Given the description of an element on the screen output the (x, y) to click on. 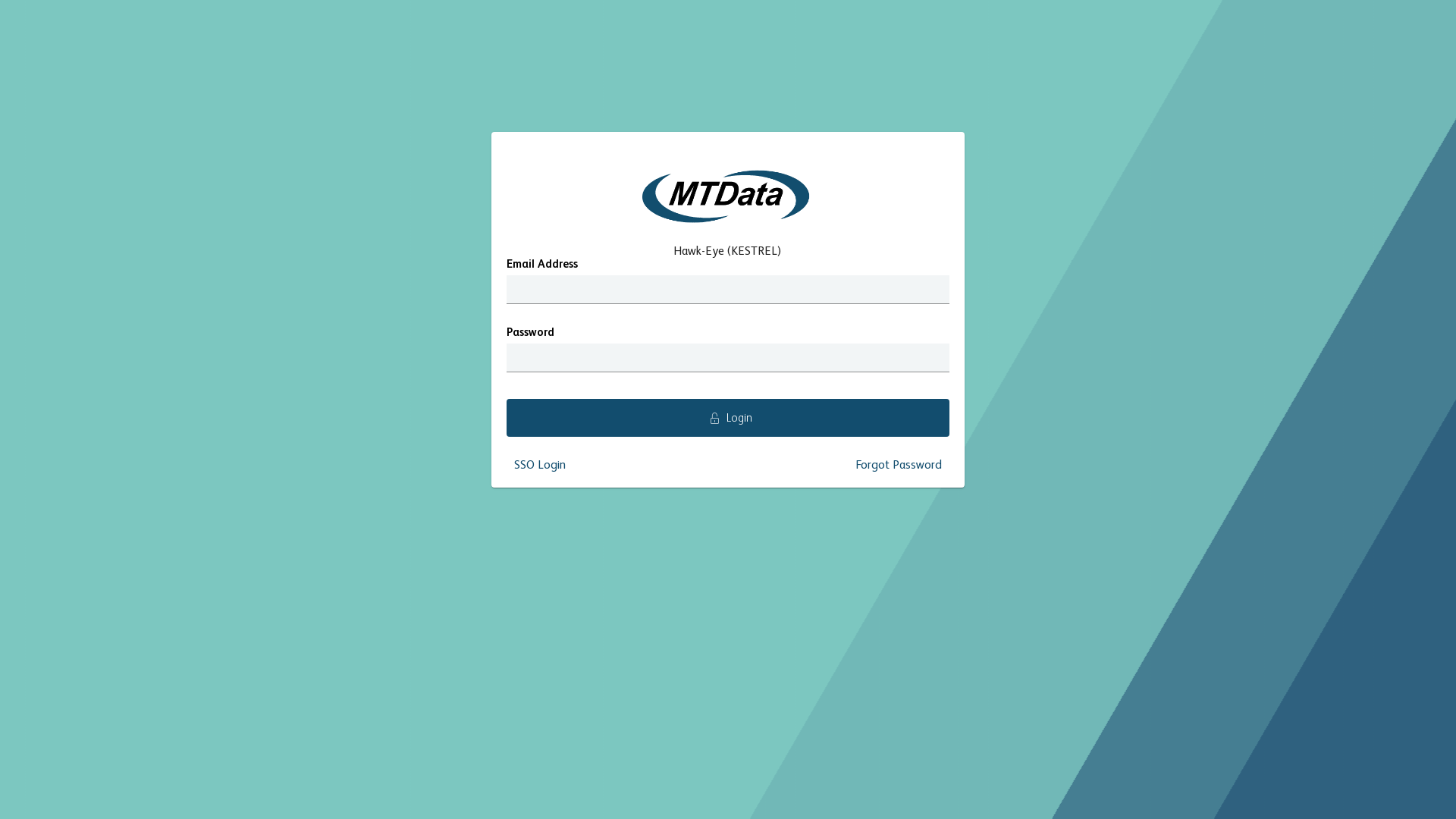
Forgot Password Element type: text (898, 465)
SSO Login Element type: text (539, 465)
Login Element type: text (727, 417)
